Given the description of an element on the screen output the (x, y) to click on. 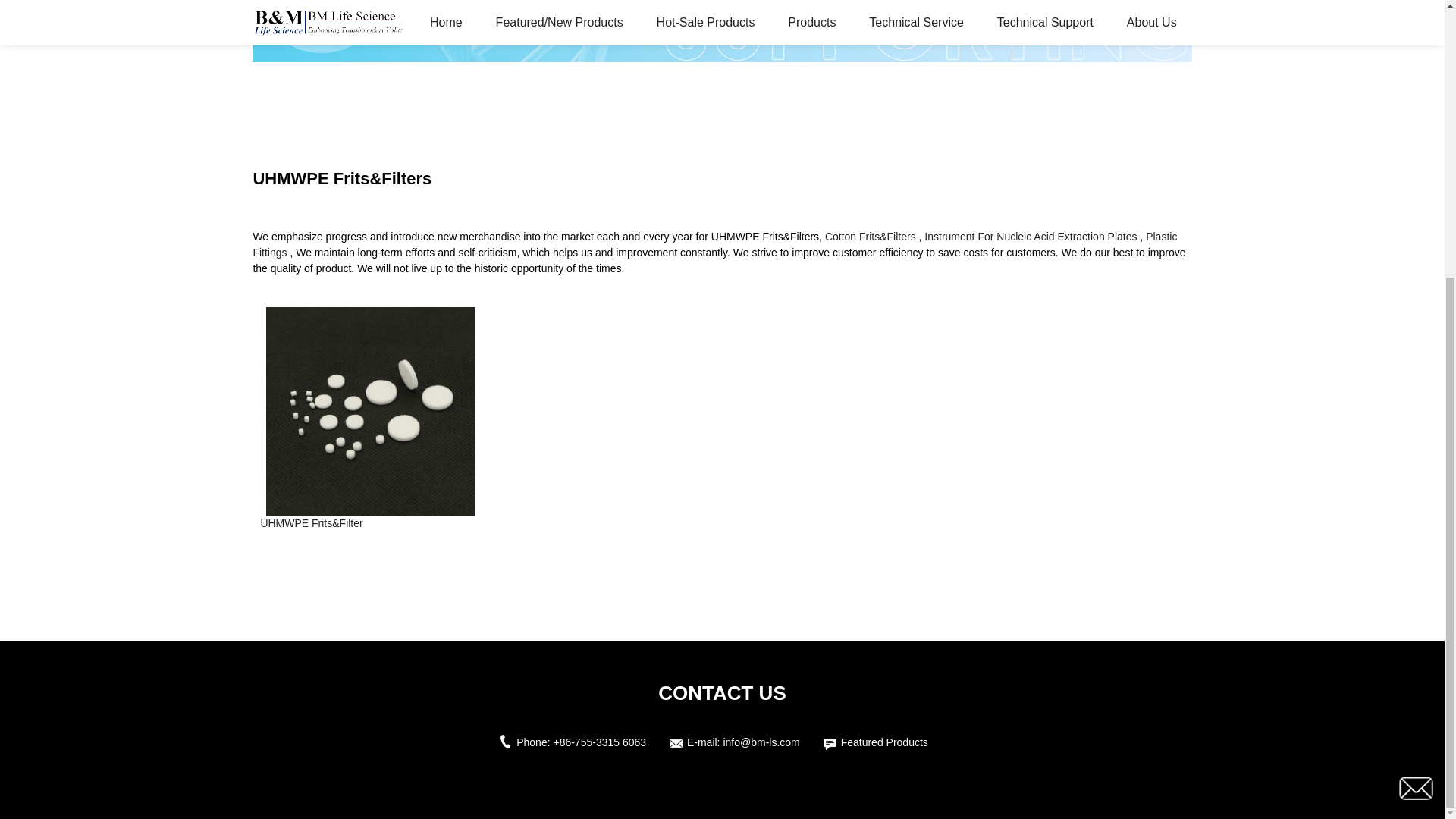
Plastic Fittings (713, 244)
Instrument For Nucleic Acid Extraction Plates (1030, 236)
